Given the description of an element on the screen output the (x, y) to click on. 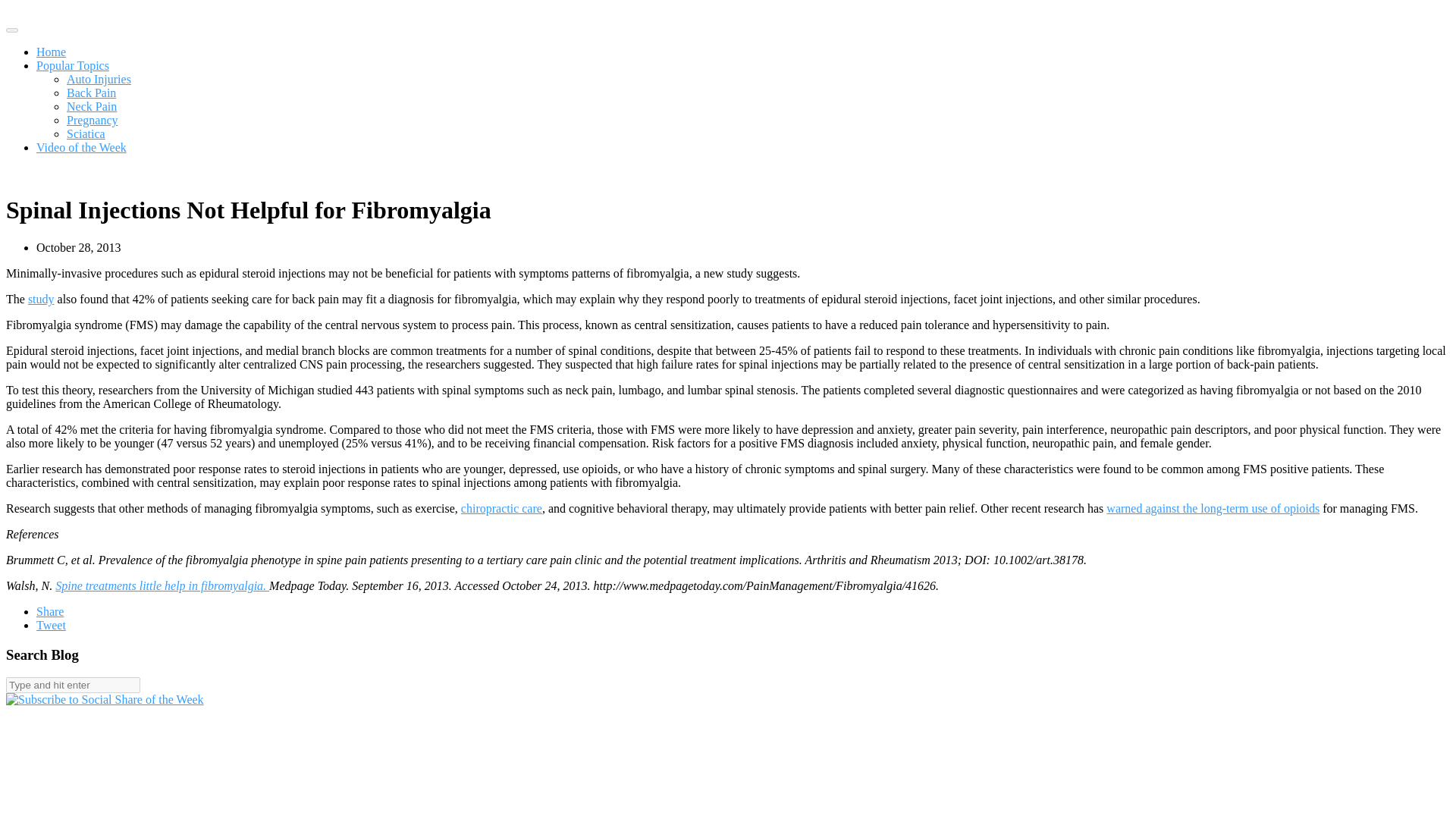
Pregnancy (91, 119)
Spine treatments little help in fibromyalgia. (162, 585)
Popular Topics (72, 65)
warned against the long-term use of opioids (1212, 508)
Sciatica (85, 133)
study (41, 298)
Neck Pain (91, 106)
Auto Injuries (98, 78)
chiropractic care (501, 508)
